Given the description of an element on the screen output the (x, y) to click on. 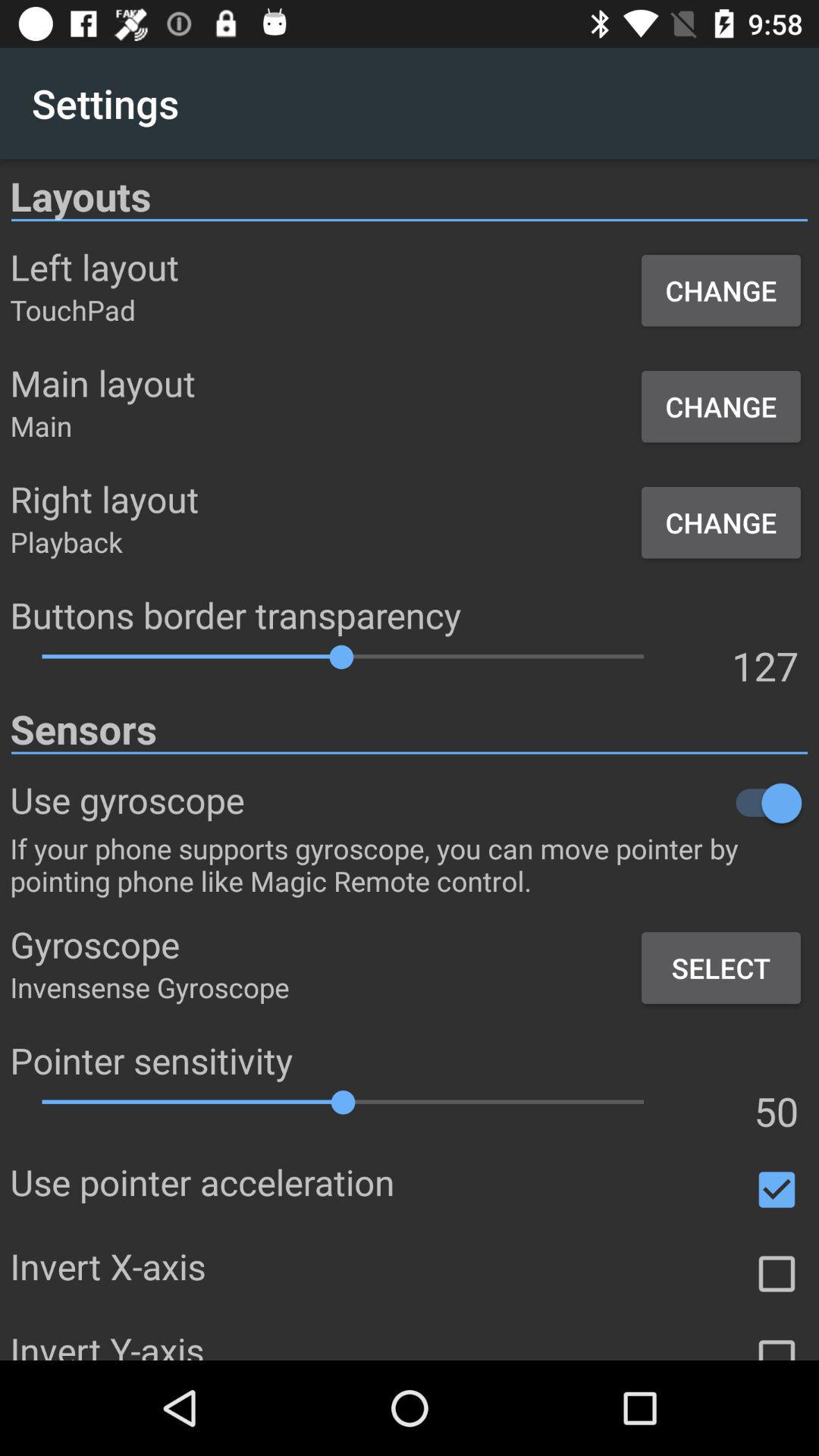
check invert x-axis on (776, 1273)
